Given the description of an element on the screen output the (x, y) to click on. 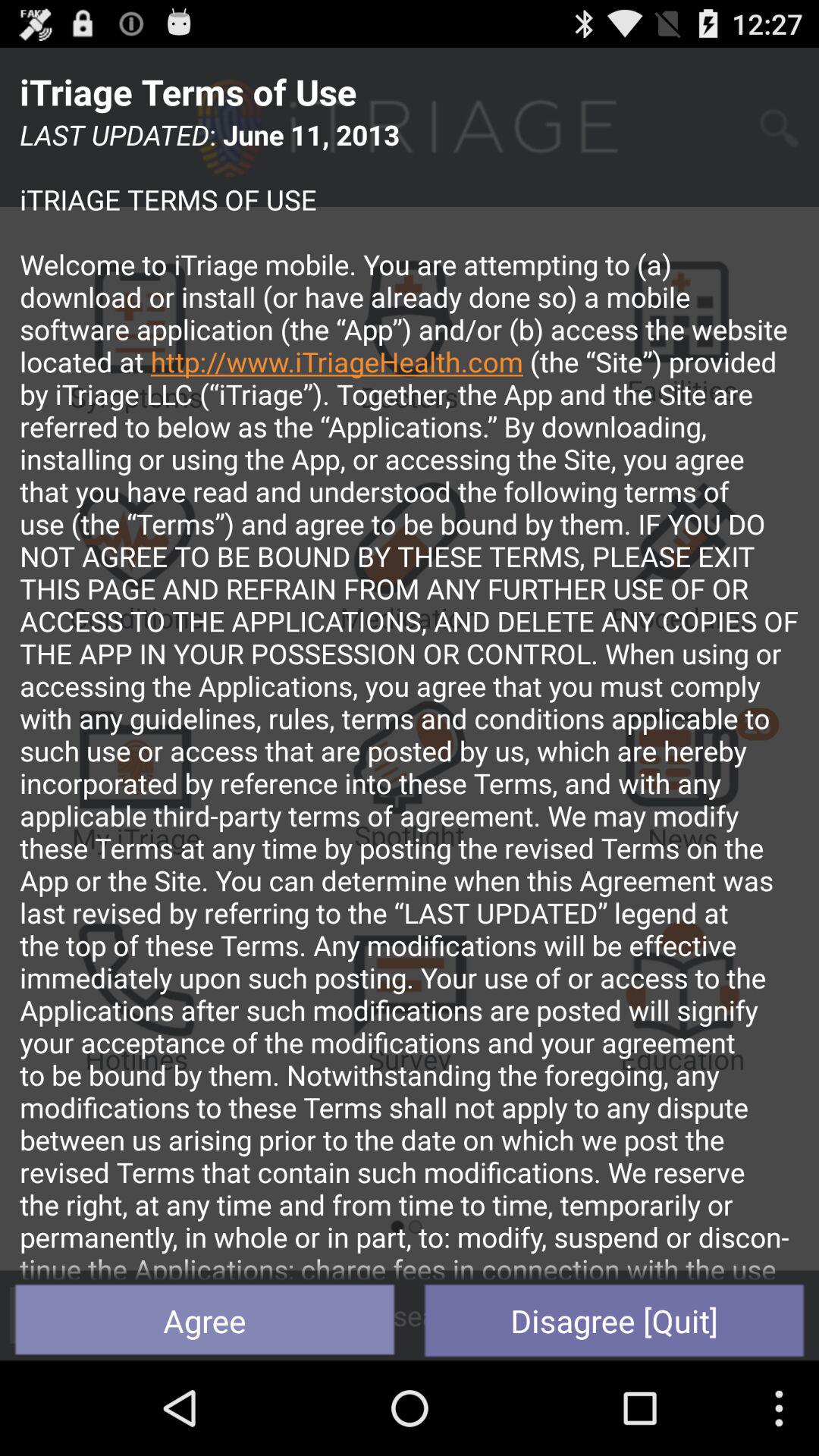
turn on agree icon (204, 1320)
